Given the description of an element on the screen output the (x, y) to click on. 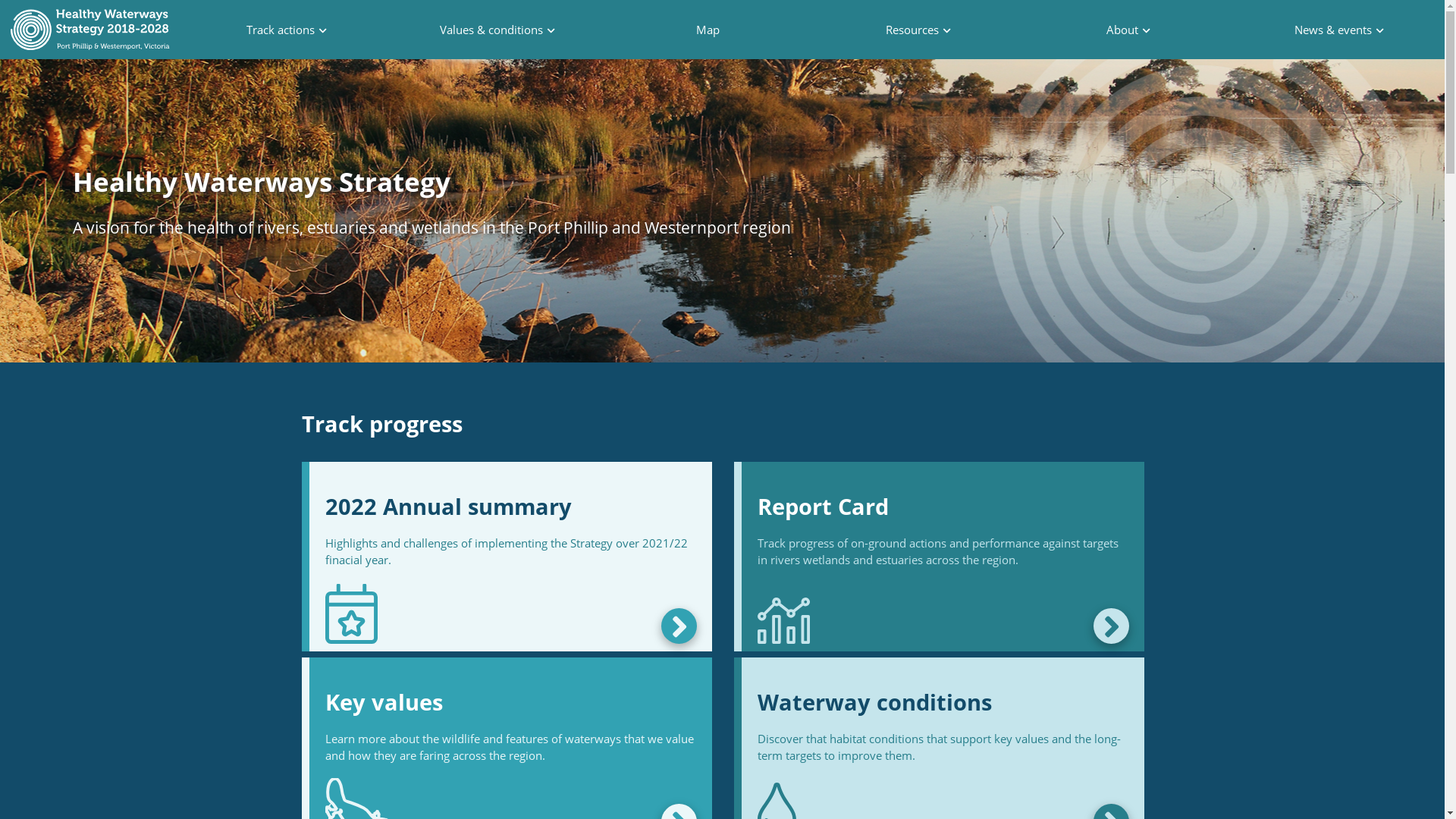
About Element type: text (1128, 29)
Values & conditions Element type: text (497, 29)
Resources Element type: text (917, 29)
Skip to main content Element type: text (0, 0)
Track actions Element type: text (287, 29)
Map Element type: text (707, 29)
News & events Element type: text (1339, 29)
